Given the description of an element on the screen output the (x, y) to click on. 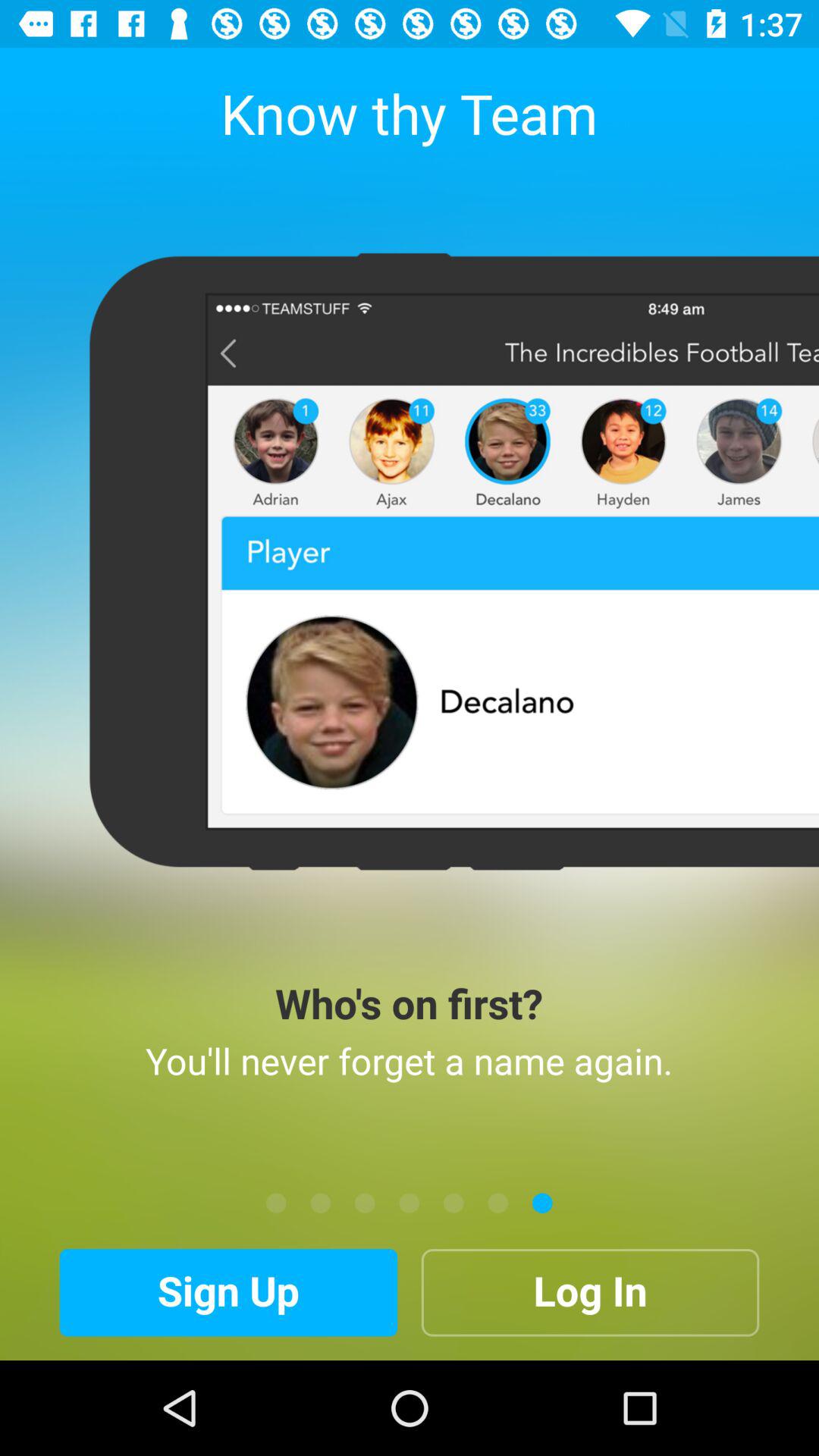
press the icon below you ll never item (409, 1203)
